Given the description of an element on the screen output the (x, y) to click on. 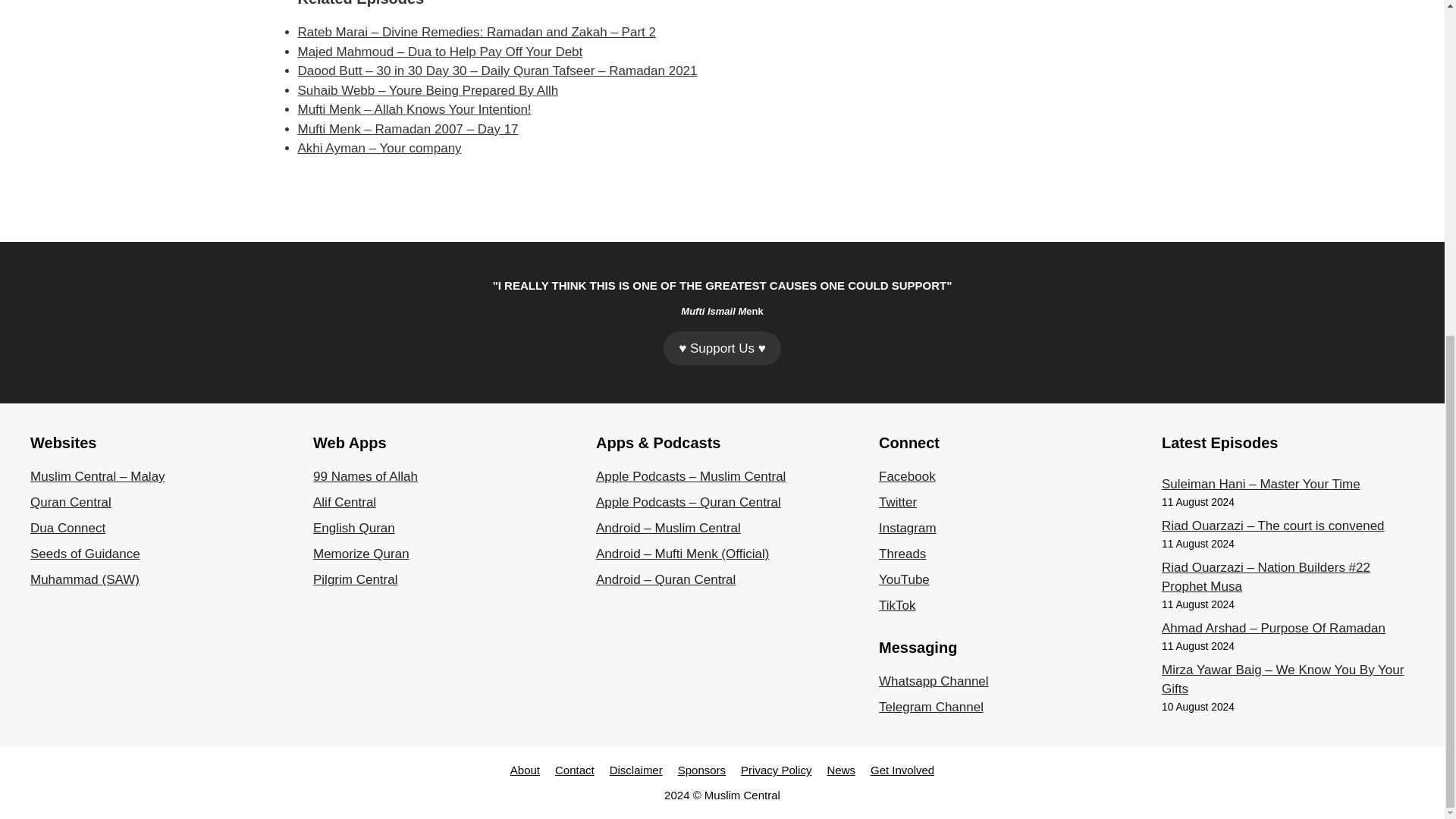
Seeds of Guidance (84, 554)
99 Names of Allah (365, 476)
Quran Central (71, 502)
Pilgrim Central (355, 579)
Memorize Quran (361, 554)
Dua Connect (67, 527)
Alif Central (344, 502)
English Quran (353, 527)
